Given the description of an element on the screen output the (x, y) to click on. 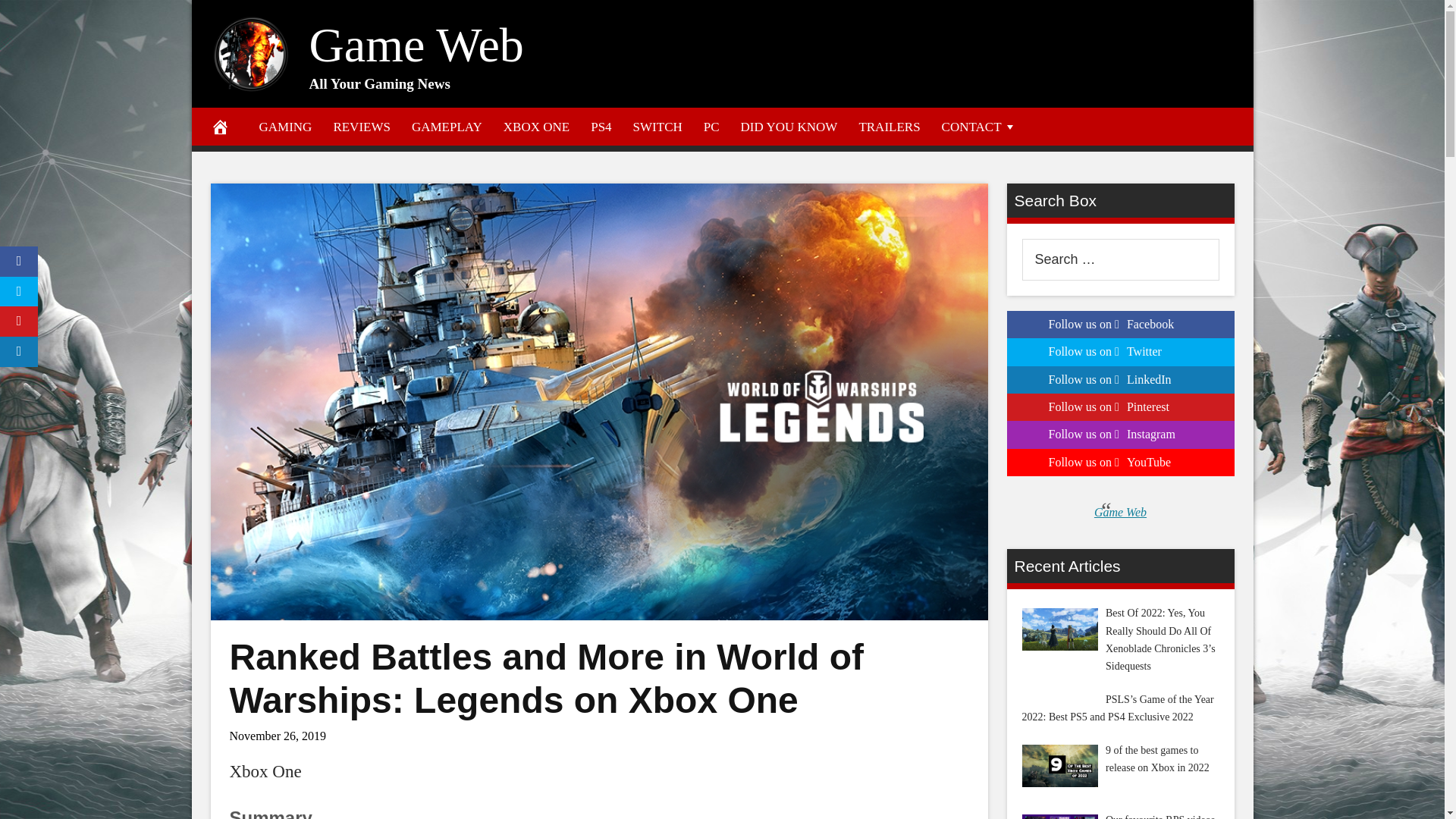
XBOX ONE (536, 126)
DID YOU KNOW (789, 126)
GAMEPLAY (447, 126)
PC (711, 126)
TRAILERS (888, 126)
Game Web (416, 45)
REVIEWS (361, 126)
Xbox One (264, 771)
SWITCH (658, 126)
GAMING (285, 126)
PS4 (600, 126)
CONTACT (979, 126)
